Given the description of an element on the screen output the (x, y) to click on. 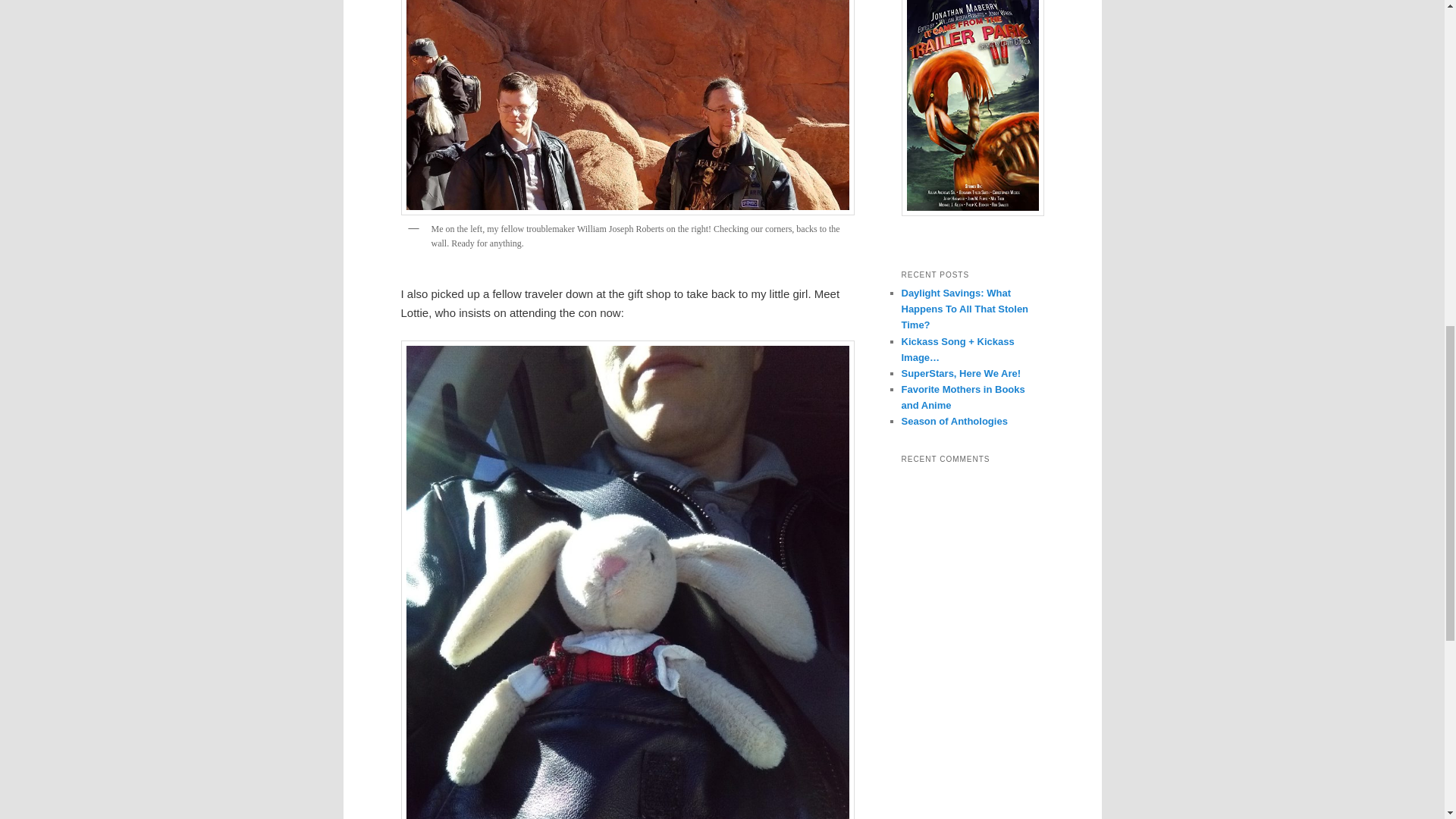
Season of Anthologies (954, 420)
Favorite Mothers in Books and Anime (963, 397)
SuperStars, Here We Are! (960, 373)
Daylight Savings: What Happens To All That Stolen Time? (964, 308)
